Given the description of an element on the screen output the (x, y) to click on. 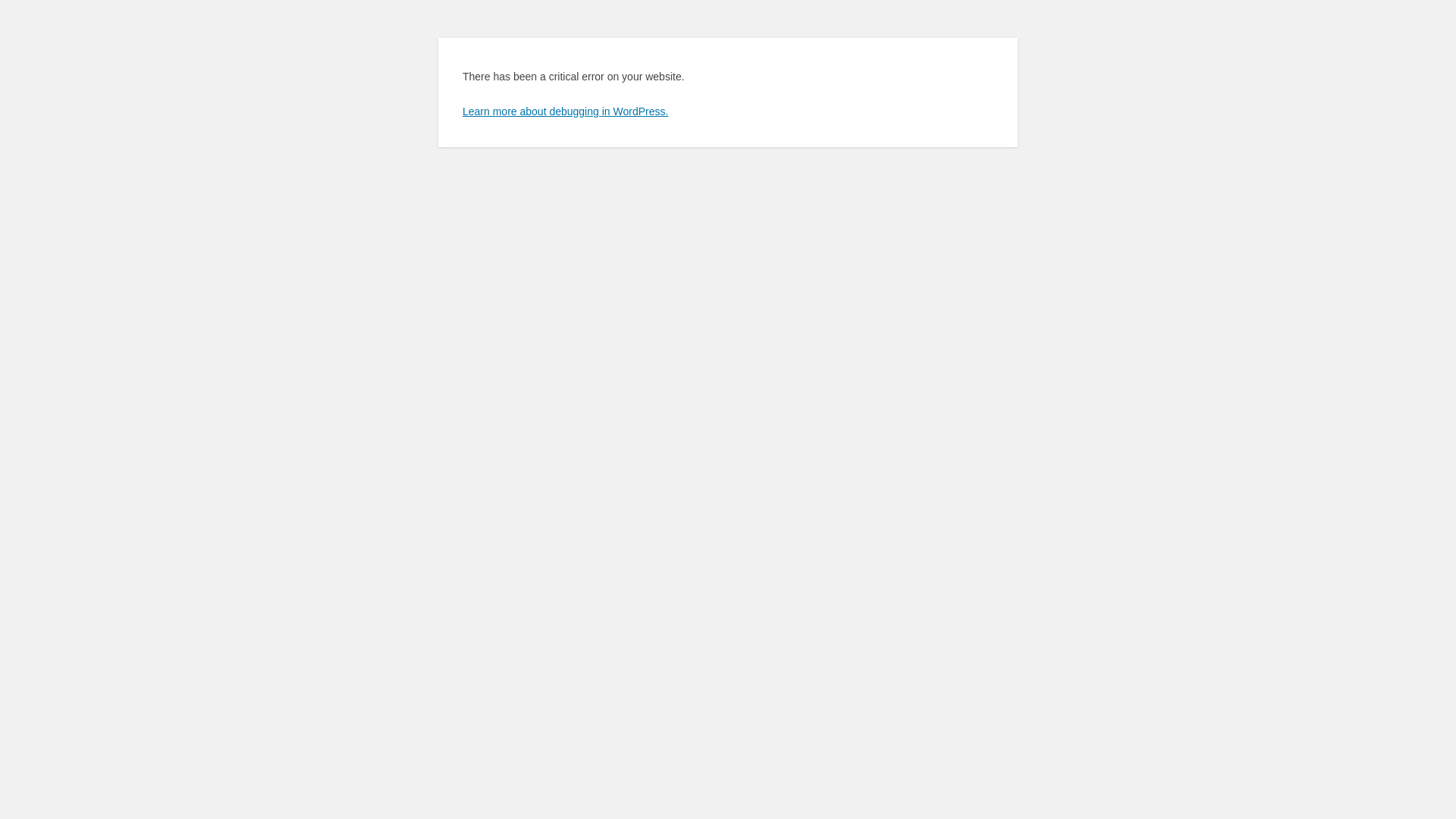
Learn more about debugging in WordPress. Element type: text (565, 111)
